Given the description of an element on the screen output the (x, y) to click on. 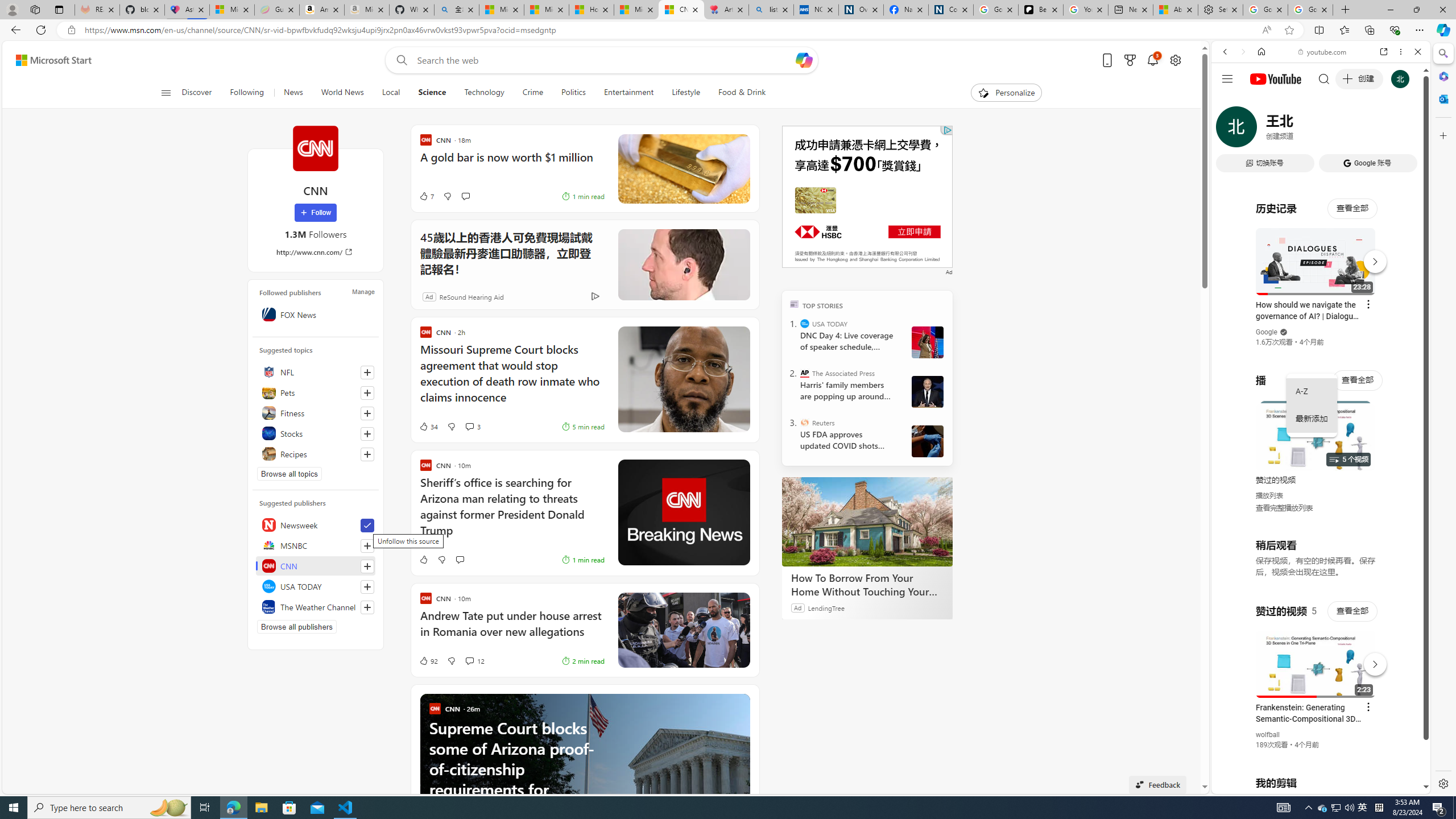
View comments 12 Comment (474, 661)
How I Got Rid of Microsoft Edge's Unnecessary Features (591, 9)
Open link in new tab (1383, 51)
US[ju] (1249, 785)
Technology (483, 92)
Politics (573, 92)
http://www.cnn.com/ (315, 251)
Personalize (1006, 92)
